Given the description of an element on the screen output the (x, y) to click on. 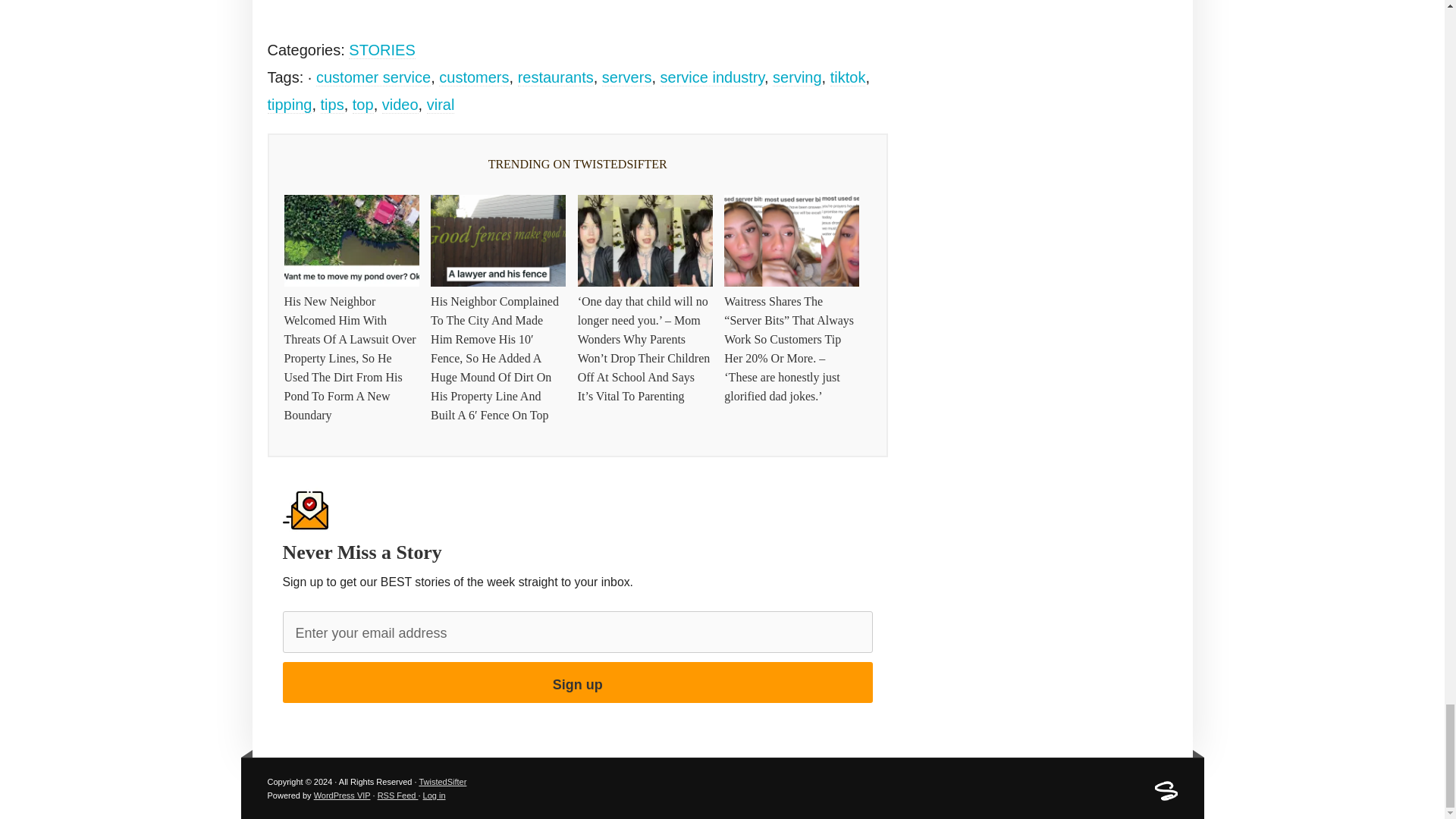
Feeling Sifty? (1165, 798)
Sign up (577, 681)
